Given the description of an element on the screen output the (x, y) to click on. 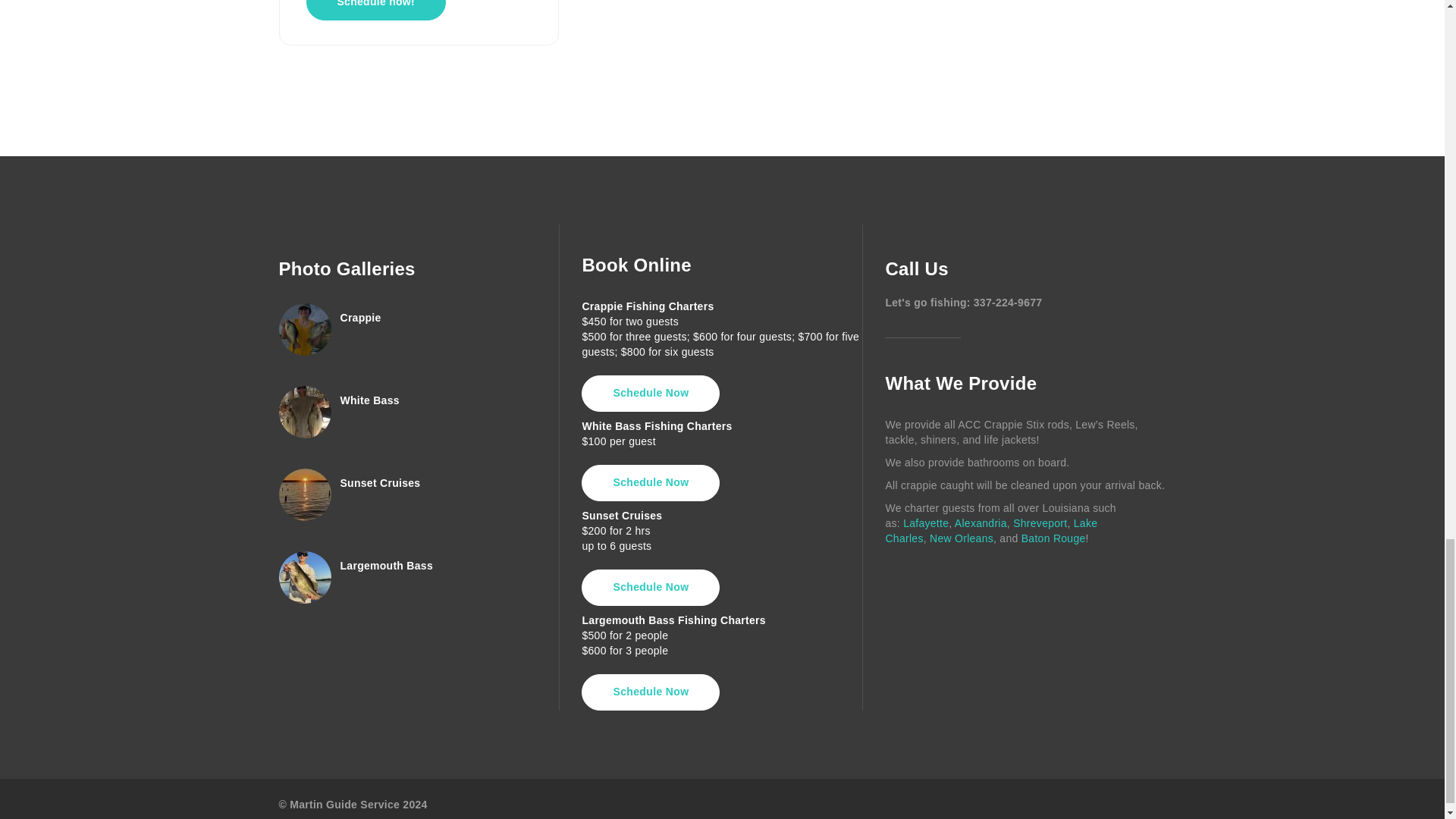
Schedule now! (375, 10)
337-224-9677 (1008, 302)
Schedule Now (649, 587)
Shreveport (1040, 522)
Lafayette (925, 522)
New Orleans (961, 538)
Sunset Cruises (379, 482)
Schedule Now (649, 483)
Alexandria (981, 522)
Schedule Now (649, 393)
Lake Charles (991, 530)
Baton Rouge (1054, 538)
Crappie (359, 317)
Schedule Now (649, 692)
Largemouth Bass (385, 565)
